Given the description of an element on the screen output the (x, y) to click on. 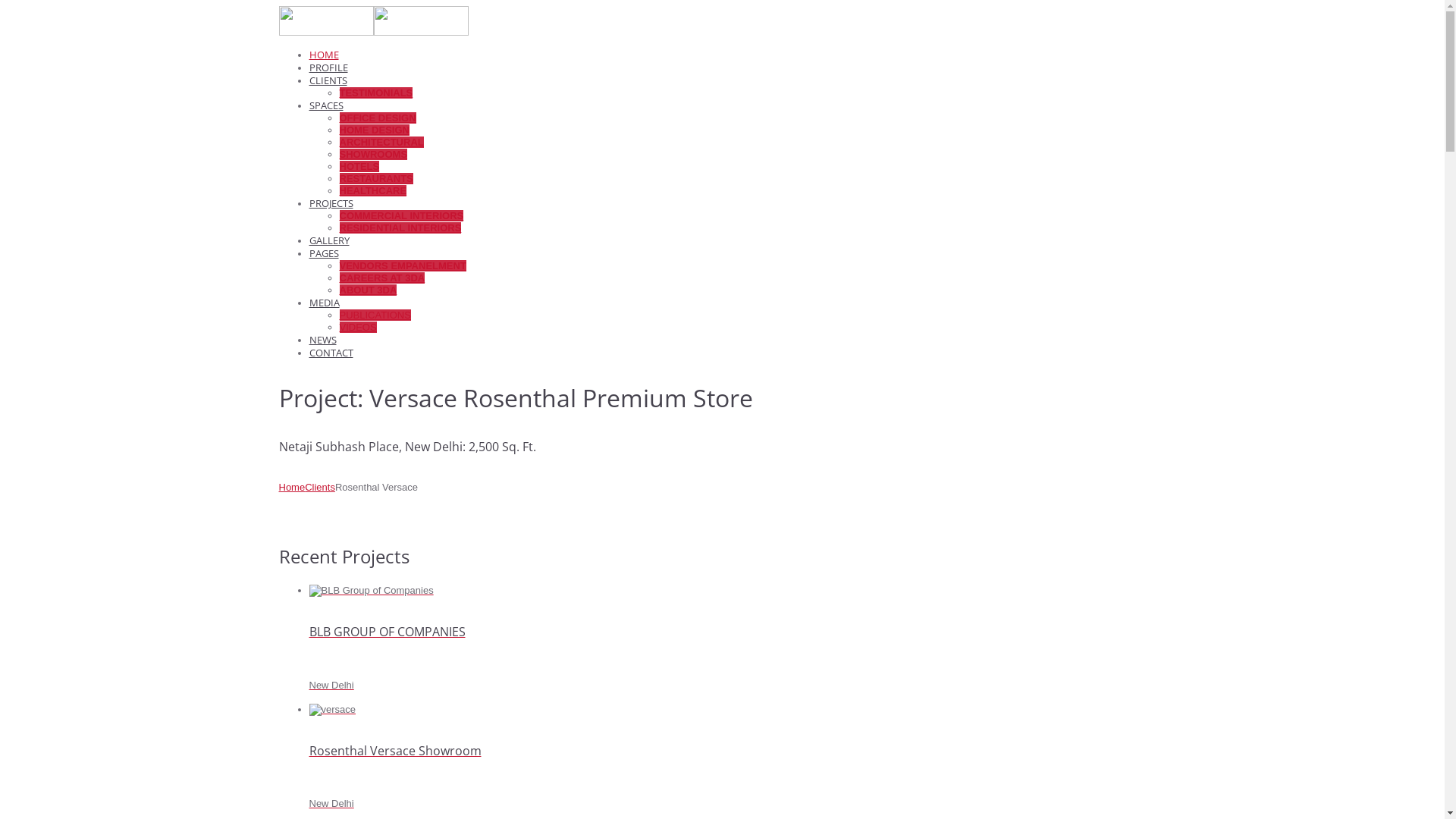
CONTACT Element type: text (331, 352)
SHOWROOMS Element type: text (373, 154)
MEDIA Element type: text (324, 302)
NEWS Element type: text (322, 339)
HEALTHCARE Element type: text (373, 190)
PROJECTS Element type: text (331, 203)
PROFILE Element type: text (328, 67)
PUBLICATIONS Element type: text (375, 314)
VIDEOS Element type: text (357, 326)
HOME DESIGN Element type: text (374, 129)
CAREERS AT 3DA Element type: text (382, 277)
CLIENTS Element type: text (328, 80)
ABOUT 3DA Element type: text (368, 289)
PAGES Element type: text (323, 253)
BLB GROUP OF COMPANIES

New Delhi Element type: text (737, 643)
GALLERY Element type: text (329, 240)
OFFICE DESIGN Element type: text (377, 117)
TESTIMONIALS Element type: text (376, 92)
Clients Element type: text (319, 486)
HOTELS Element type: text (359, 166)
HOME Element type: text (323, 54)
RESTAURANTS Element type: text (376, 178)
SPACES Element type: text (326, 105)
RESIDENTIAL INTERIORS Element type: text (400, 227)
ARCHITECTURAL Element type: text (381, 141)
Home Element type: text (292, 486)
COMMERCIAL INTERIORS Element type: text (401, 215)
VENDORS EMPANELMENT Element type: text (402, 265)
